Given the description of an element on the screen output the (x, y) to click on. 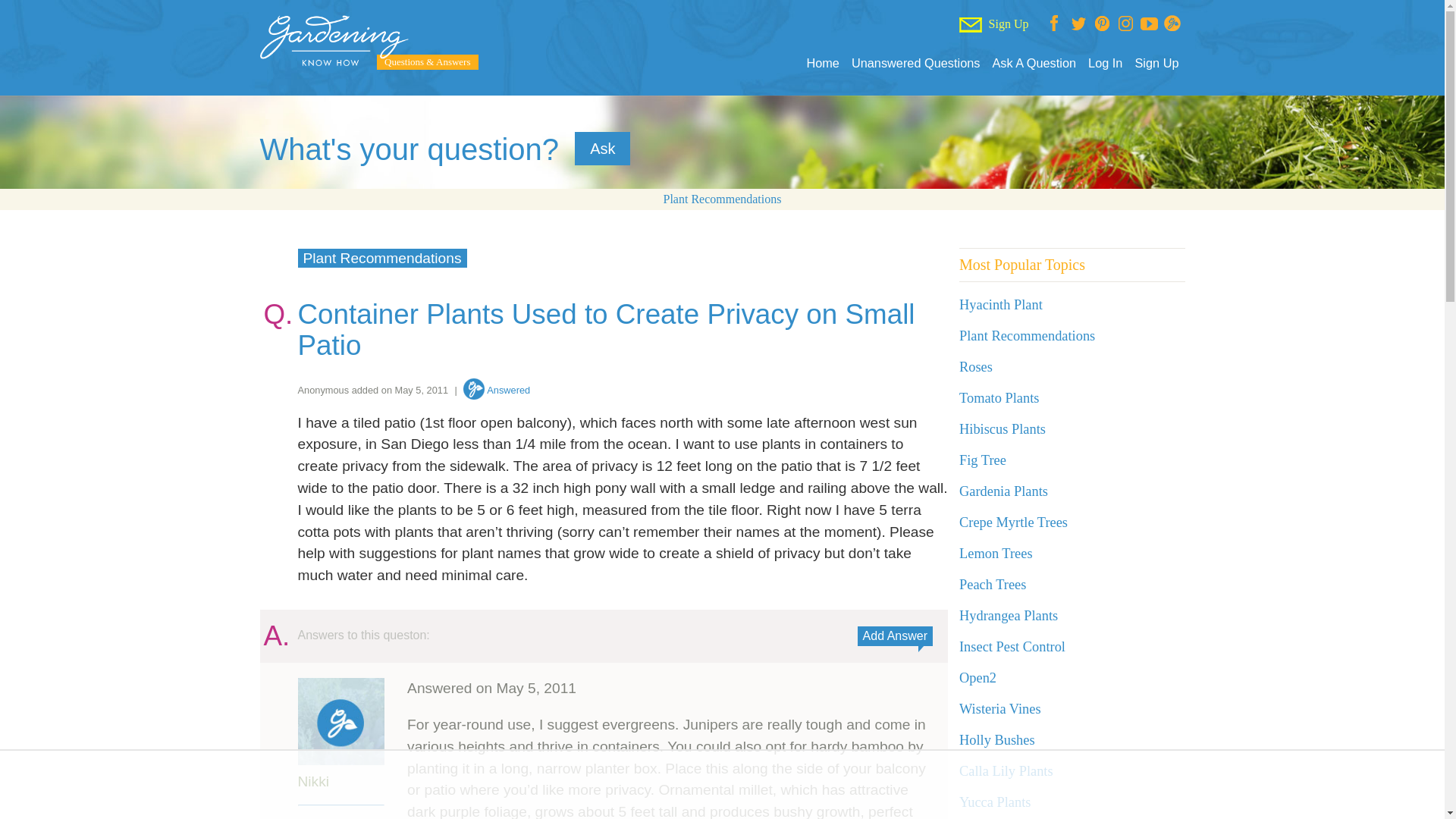
Gardenia Plants (1003, 491)
Plant Recommendations (1026, 335)
Hibiscus Plants (1002, 428)
Open2 (977, 677)
Plant Recommendations (1026, 335)
Crepe Myrtle Trees (1013, 522)
Unanswered Questions (916, 62)
Add Answer (895, 636)
Answered (496, 389)
Sign Up (1156, 62)
Fig Tree (982, 459)
Ask A Question (1033, 62)
Lemon Trees (995, 553)
Plant Recommendations (721, 198)
Log In (1104, 62)
